Given the description of an element on the screen output the (x, y) to click on. 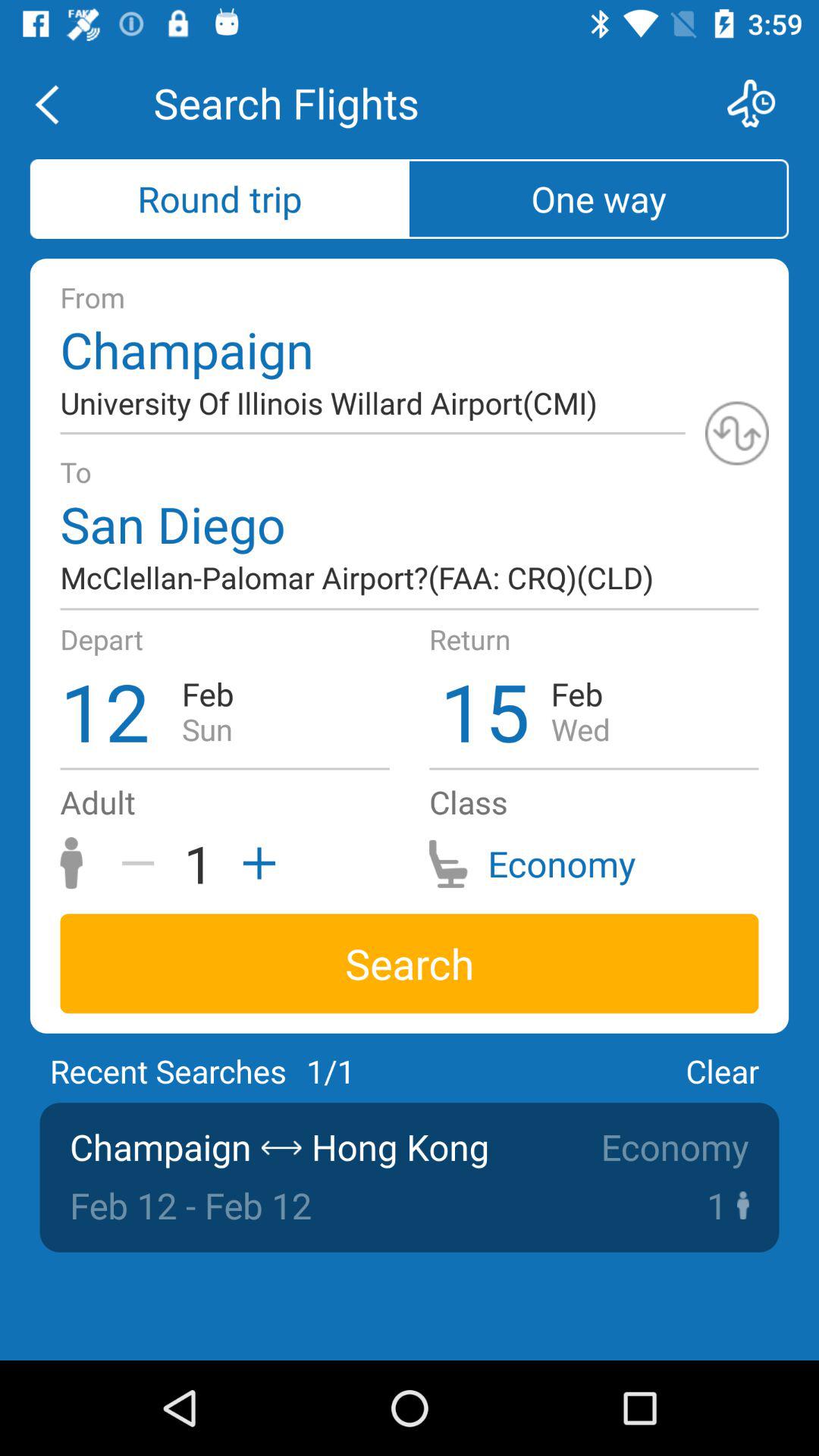
add passengers (254, 863)
